Given the description of an element on the screen output the (x, y) to click on. 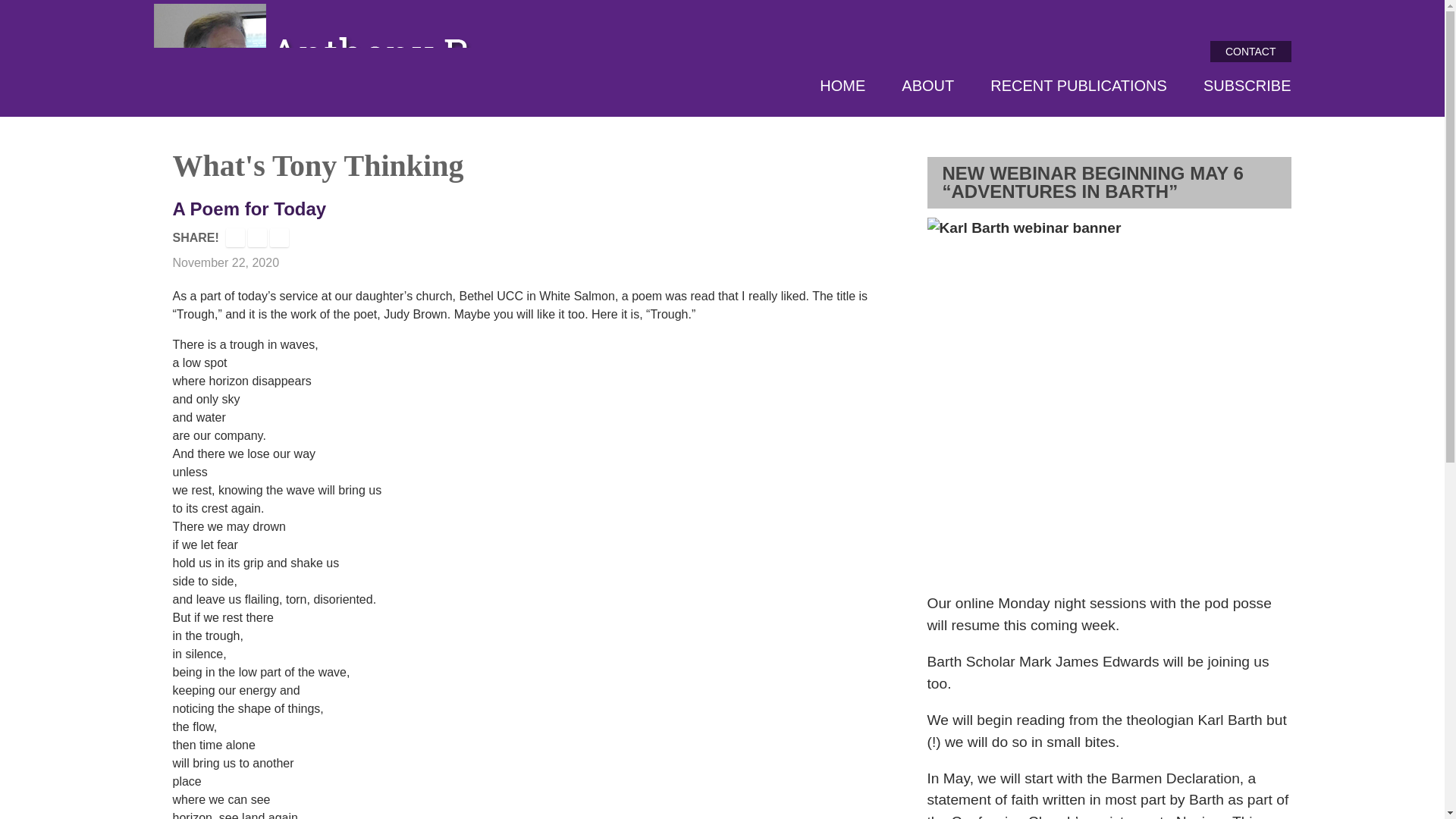
Search (1274, 16)
CONTACT (1250, 51)
HOME (841, 86)
RECENT PUBLICATIONS (1078, 86)
Search (1274, 16)
SUBSCRIBE (1247, 86)
ABOUT (927, 86)
